Given the description of an element on the screen output the (x, y) to click on. 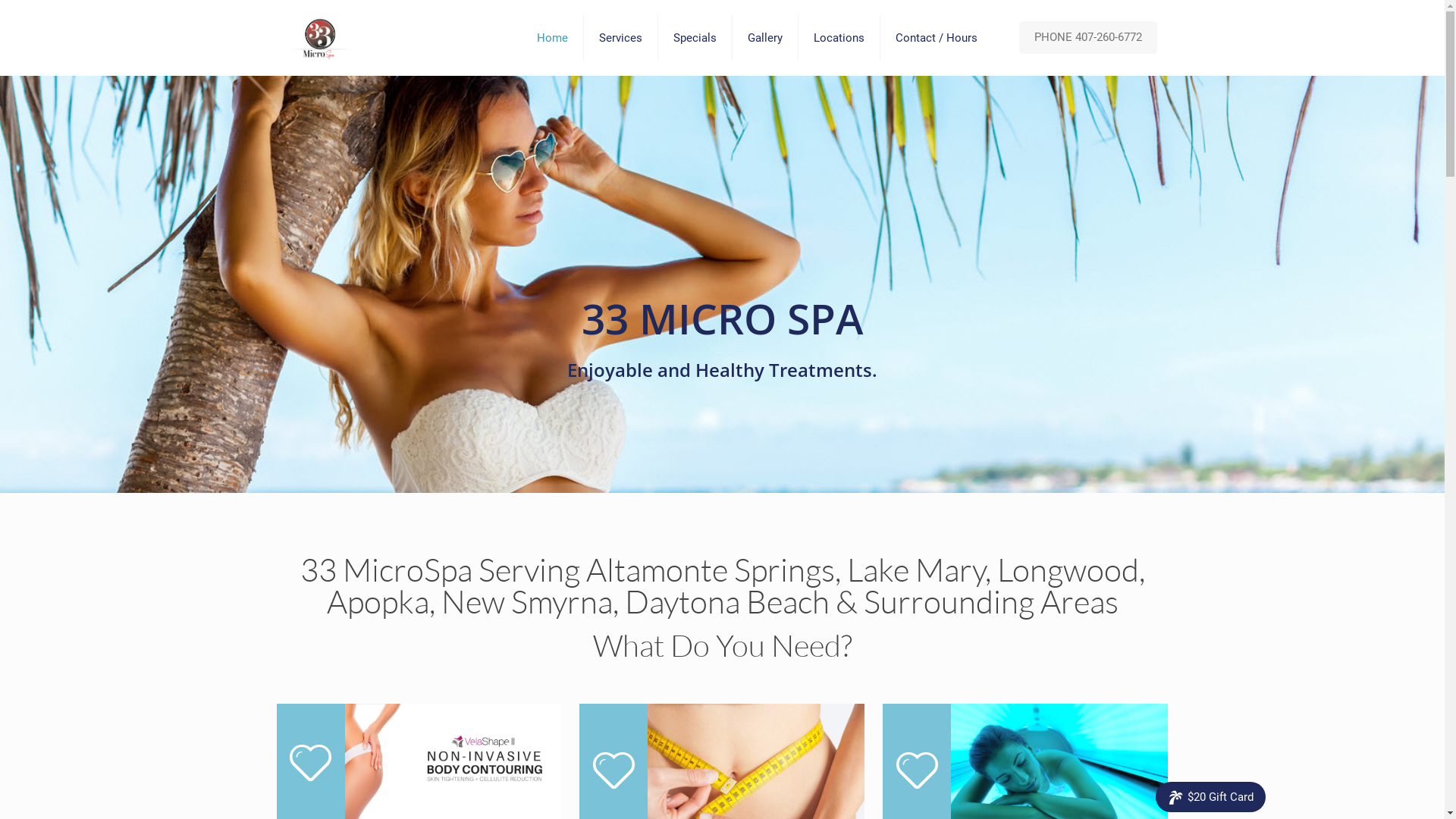
Home Element type: text (552, 37)
33 Micro Spa Element type: hover (319, 37)
Specials Element type: text (695, 37)
Gallery Element type: text (765, 37)
Locations Element type: text (838, 37)
PHONE 407-260-6772 Element type: text (1088, 37)
Services Element type: text (620, 37)
$20 Gift Card Element type: text (1210, 796)
Contact / Hours Element type: text (935, 37)
